Given the description of an element on the screen output the (x, y) to click on. 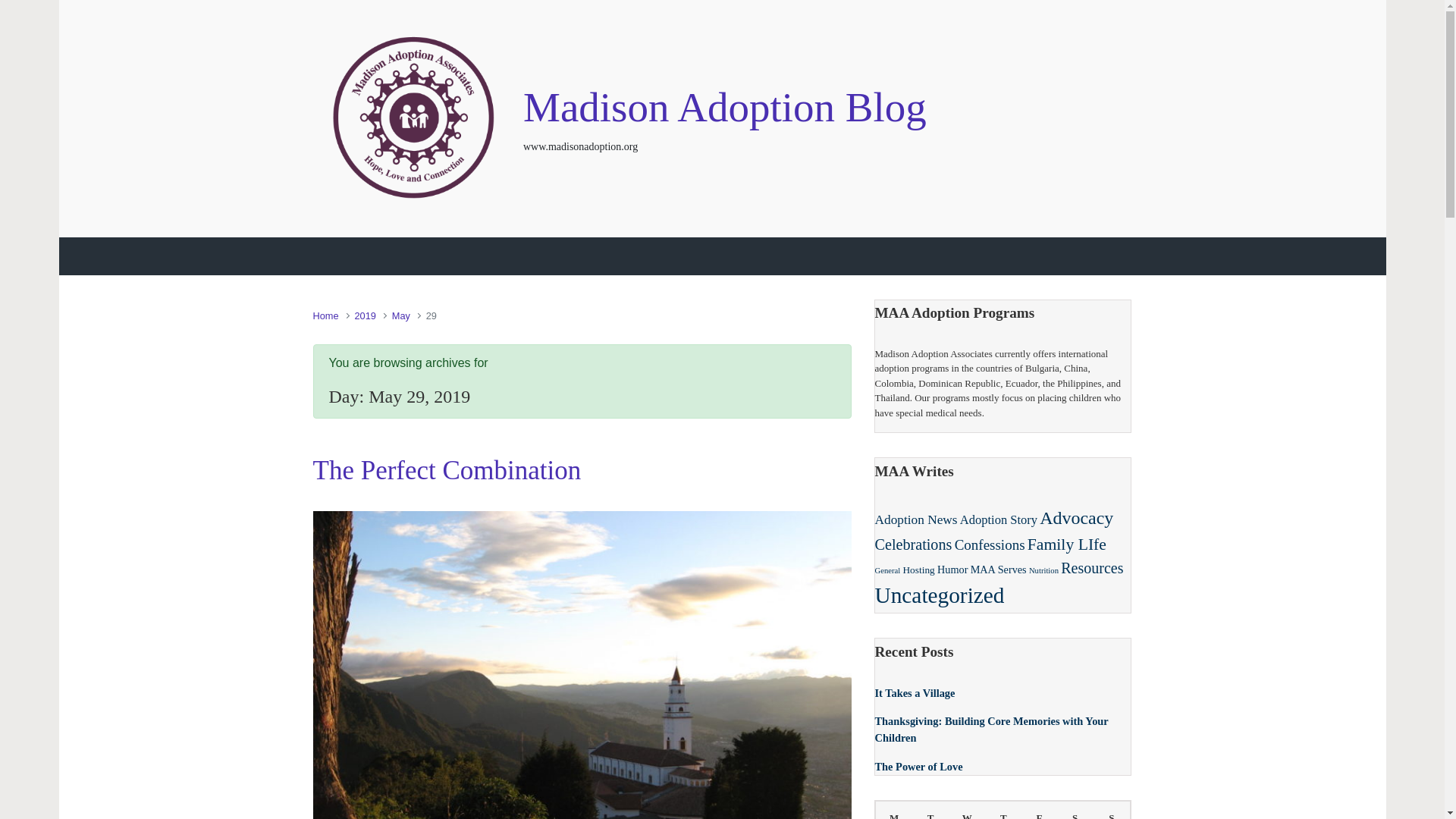
General (888, 570)
Sunday (1112, 810)
Adoption News (916, 519)
Thanksgiving: Building Core Memories with Your Children (991, 729)
Thursday (1003, 810)
Instagram (1051, 118)
Celebrations (913, 544)
Wednesday (967, 810)
Saturday (1075, 810)
It Takes a Village (915, 693)
